Given the description of an element on the screen output the (x, y) to click on. 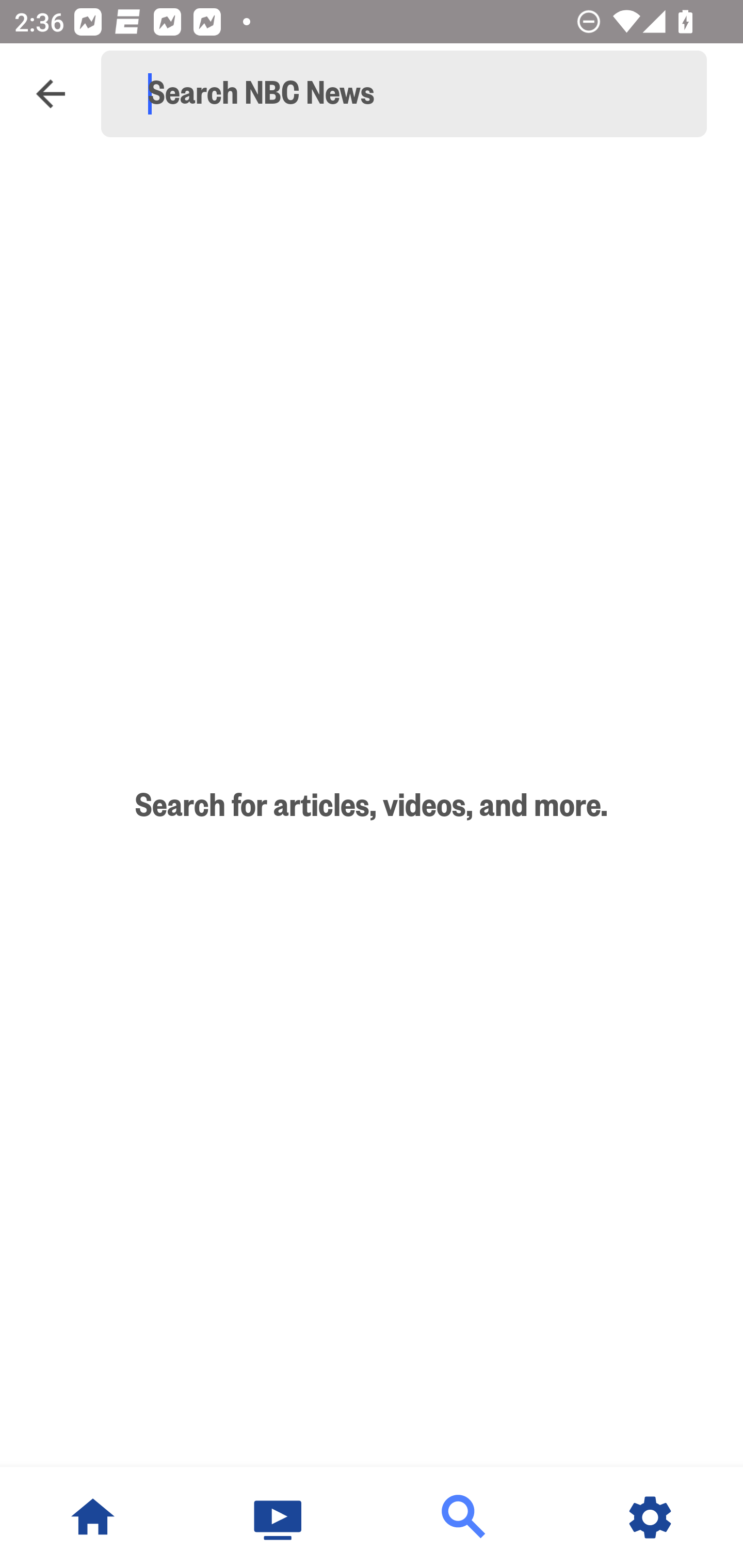
Navigate up (50, 93)
Search NBC News (412, 94)
NBC News Home (92, 1517)
Watch (278, 1517)
Settings (650, 1517)
